Given the description of an element on the screen output the (x, y) to click on. 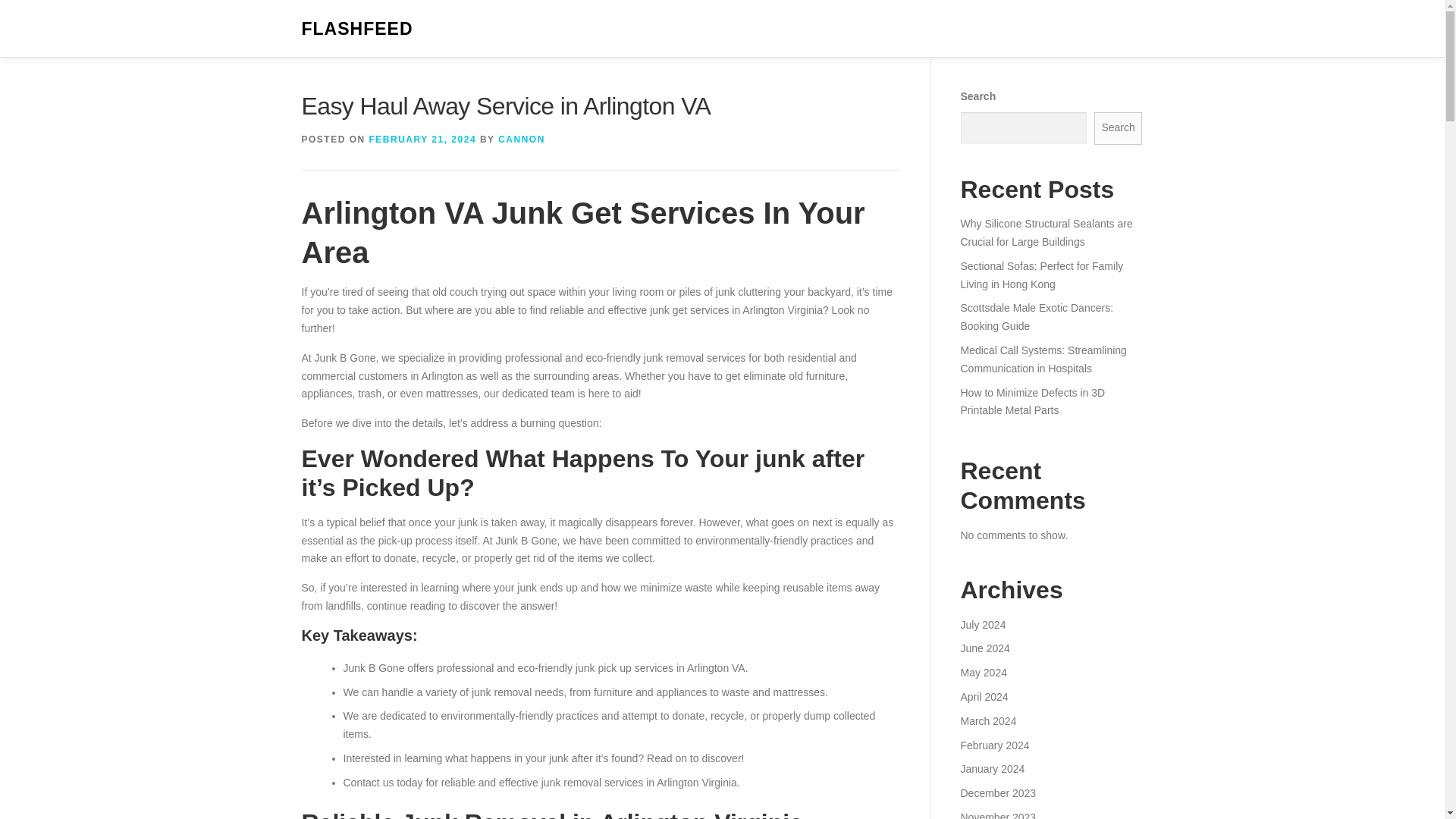
June 2024 (984, 648)
Search (1118, 128)
December 2023 (997, 793)
Scottsdale Male Exotic Dancers: Booking Guide (1036, 317)
November 2023 (997, 815)
January 2024 (992, 768)
FEBRUARY 21, 2024 (423, 139)
April 2024 (983, 696)
Sectional Sofas: Perfect for Family Living in Hong Kong (1040, 275)
How to Minimize Defects in 3D Printable Metal Parts (1032, 401)
May 2024 (982, 672)
March 2024 (987, 720)
July 2024 (982, 624)
